Given the description of an element on the screen output the (x, y) to click on. 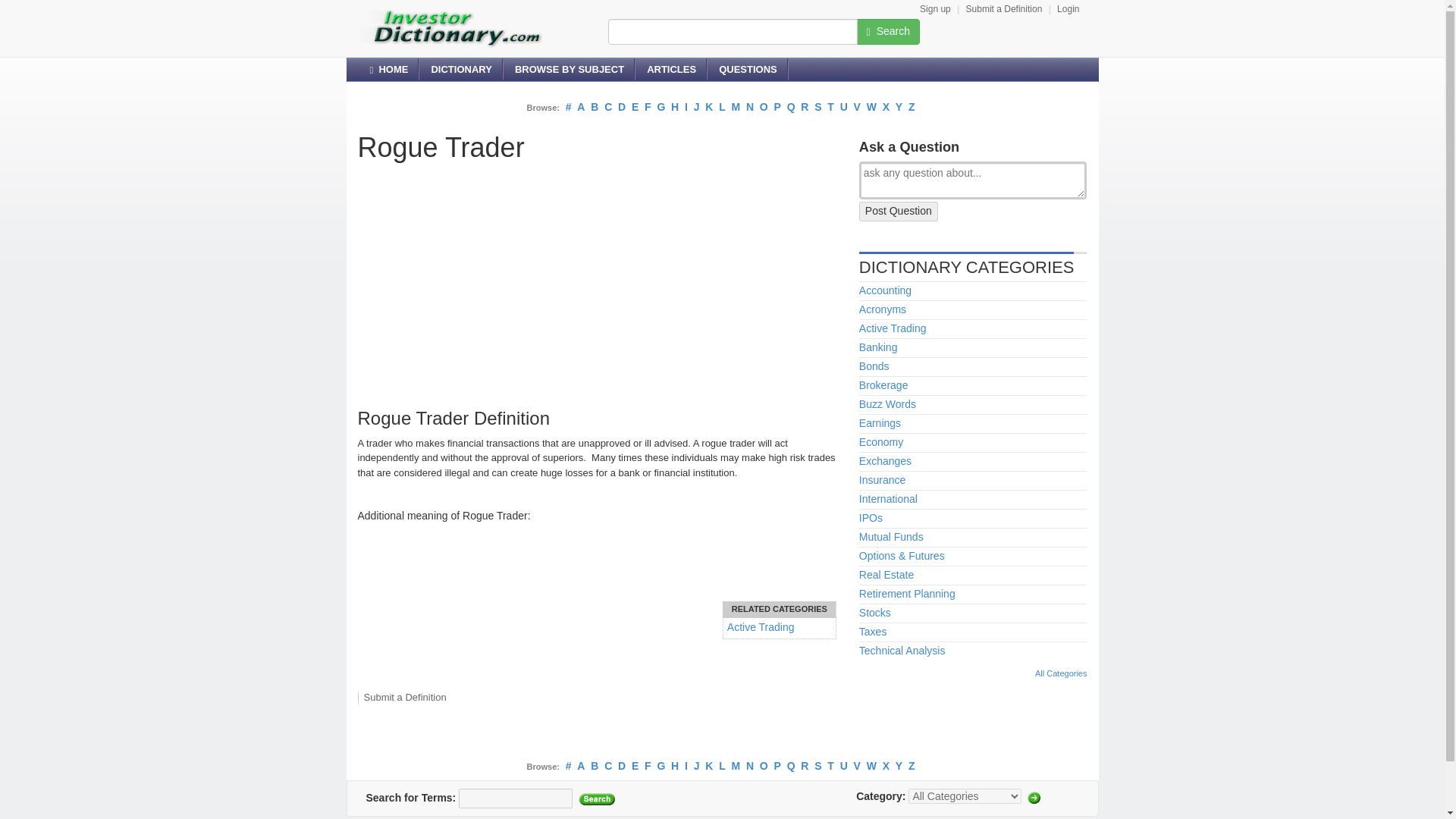
A (580, 106)
Q (790, 106)
H (674, 106)
J (697, 106)
DICTIONARY (460, 69)
R (804, 106)
Click to browse (1034, 797)
Sign up (935, 9)
ARTICLES (670, 69)
K (708, 106)
 HOME (388, 69)
E (635, 106)
F (647, 106)
Search (596, 799)
M (734, 106)
